Given the description of an element on the screen output the (x, y) to click on. 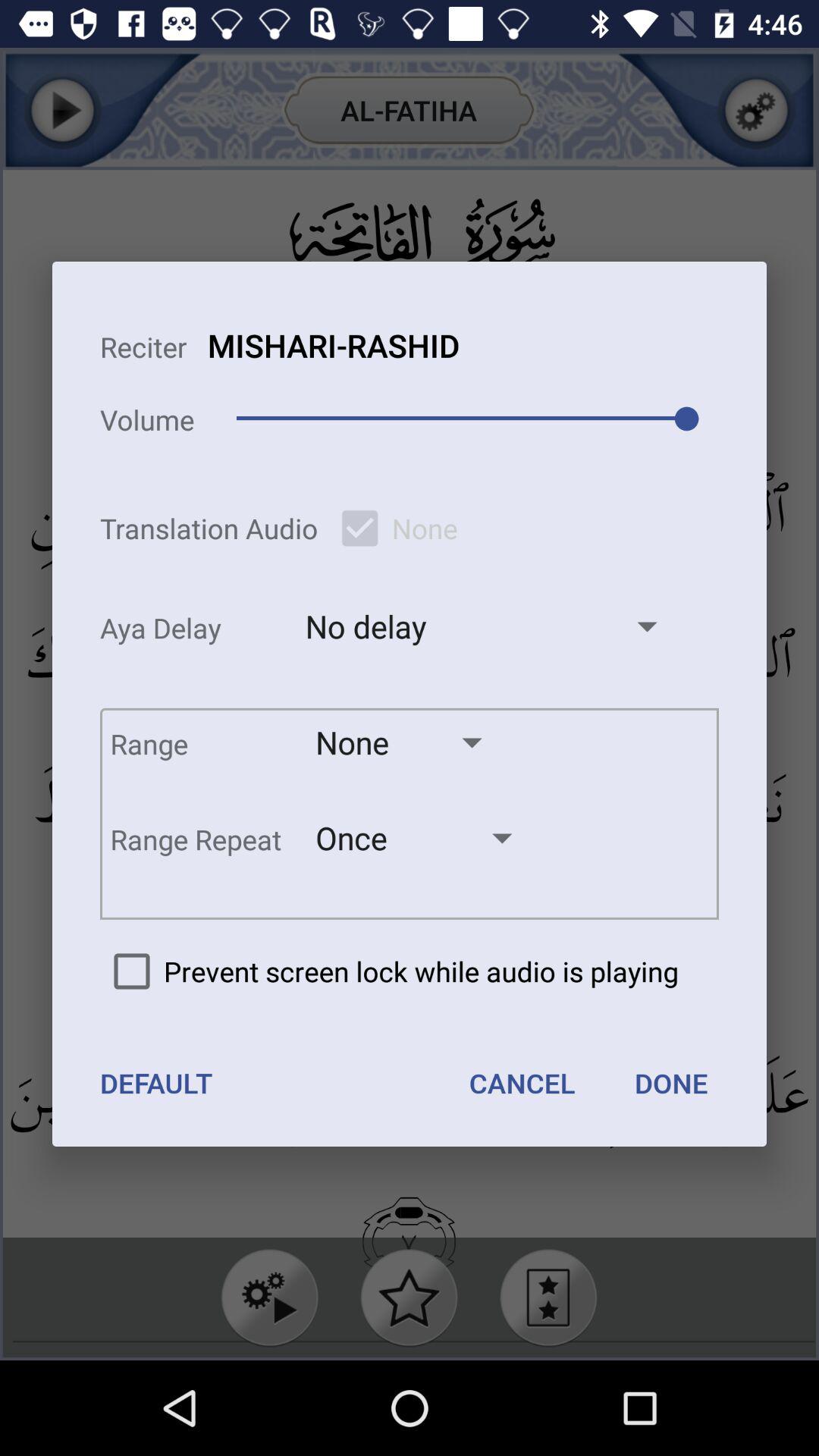
click icon next to the cancel icon (156, 1082)
